Given the description of an element on the screen output the (x, y) to click on. 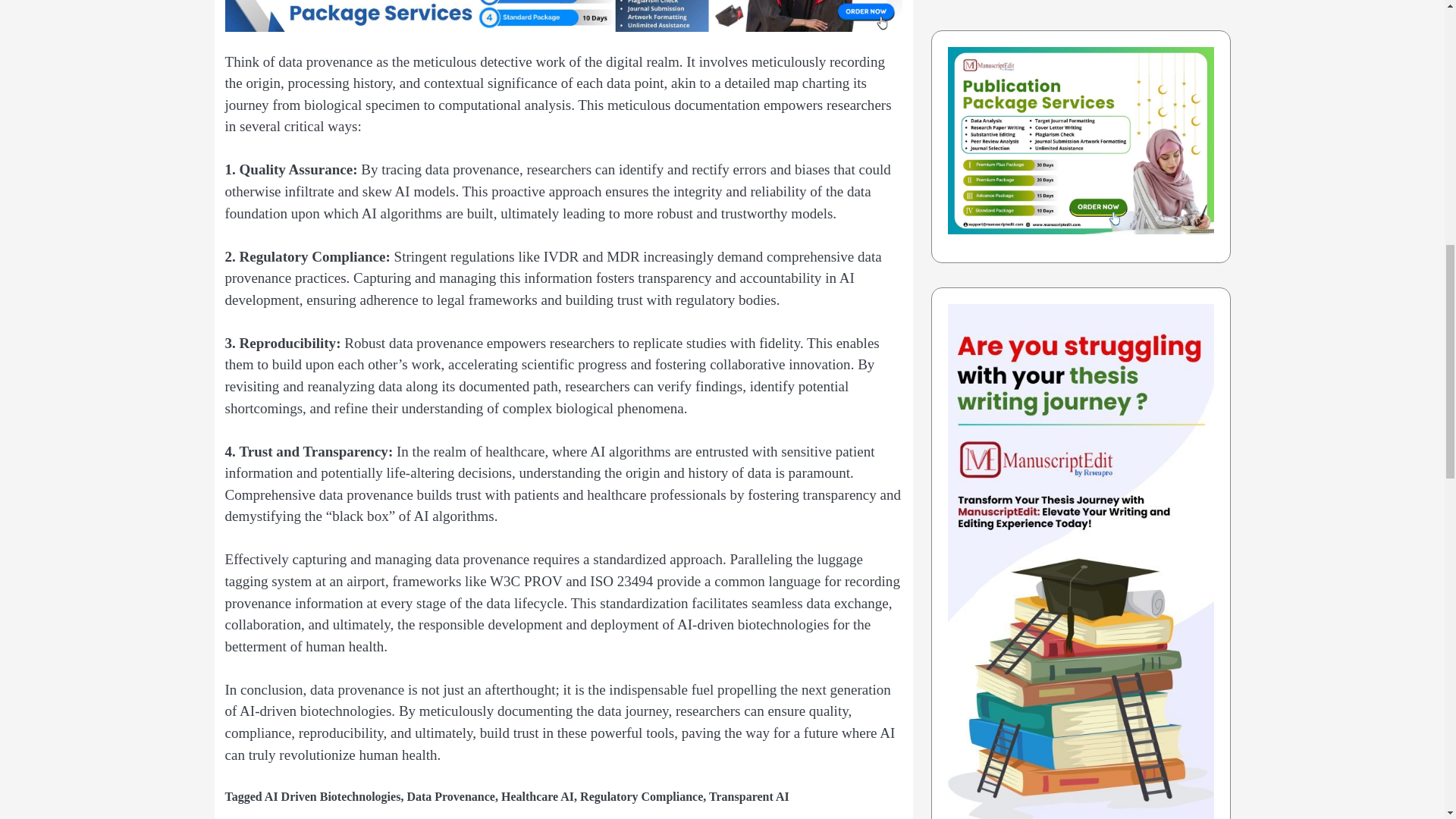
Transparent AI (749, 796)
Healthcare AI (536, 796)
Regulatory Compliance (641, 796)
AI Driven Biotechnologies (332, 796)
Data Provenance (450, 796)
